Given the description of an element on the screen output the (x, y) to click on. 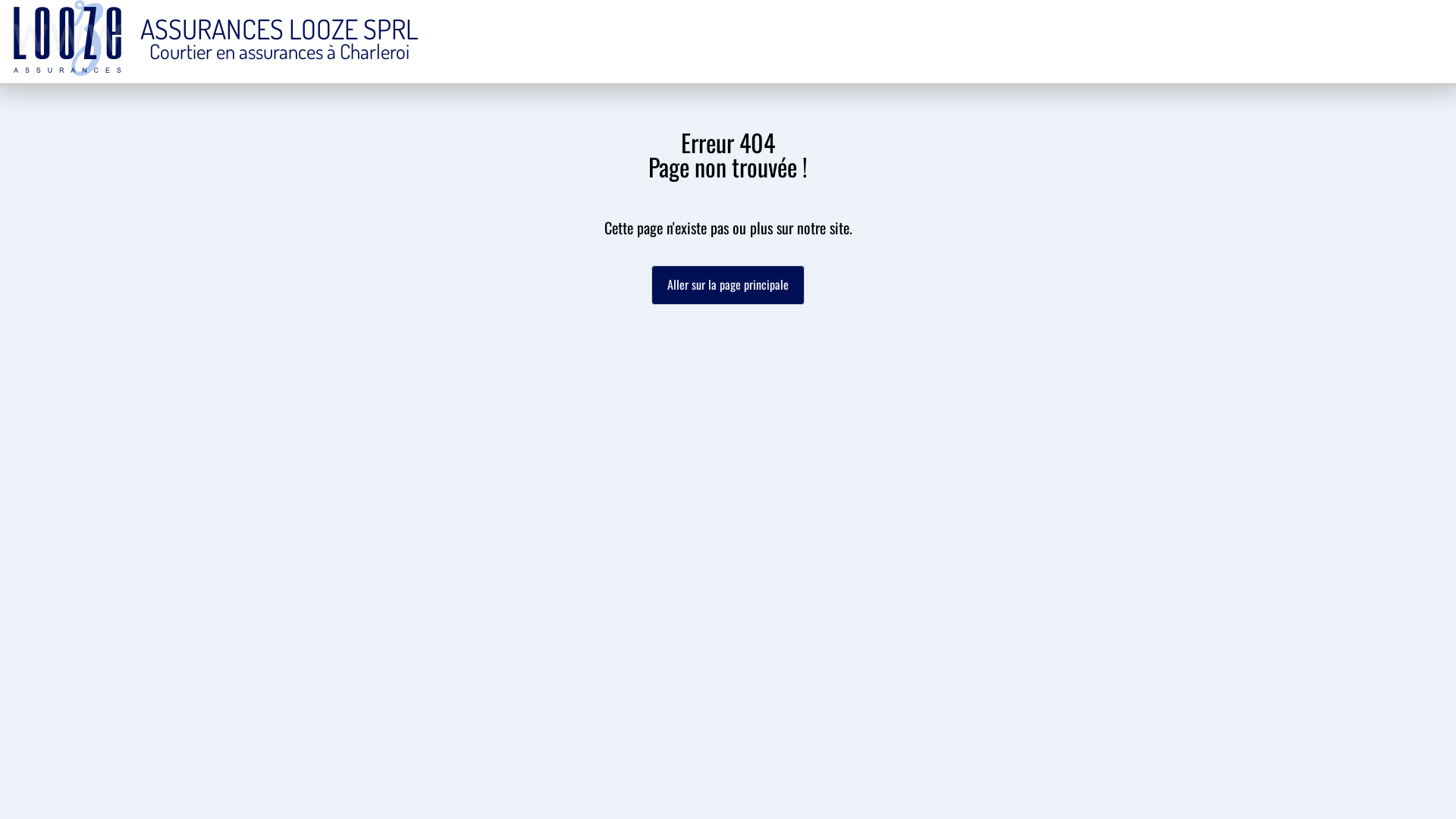
Aller sur la page principale Element type: text (727, 284)
